Given the description of an element on the screen output the (x, y) to click on. 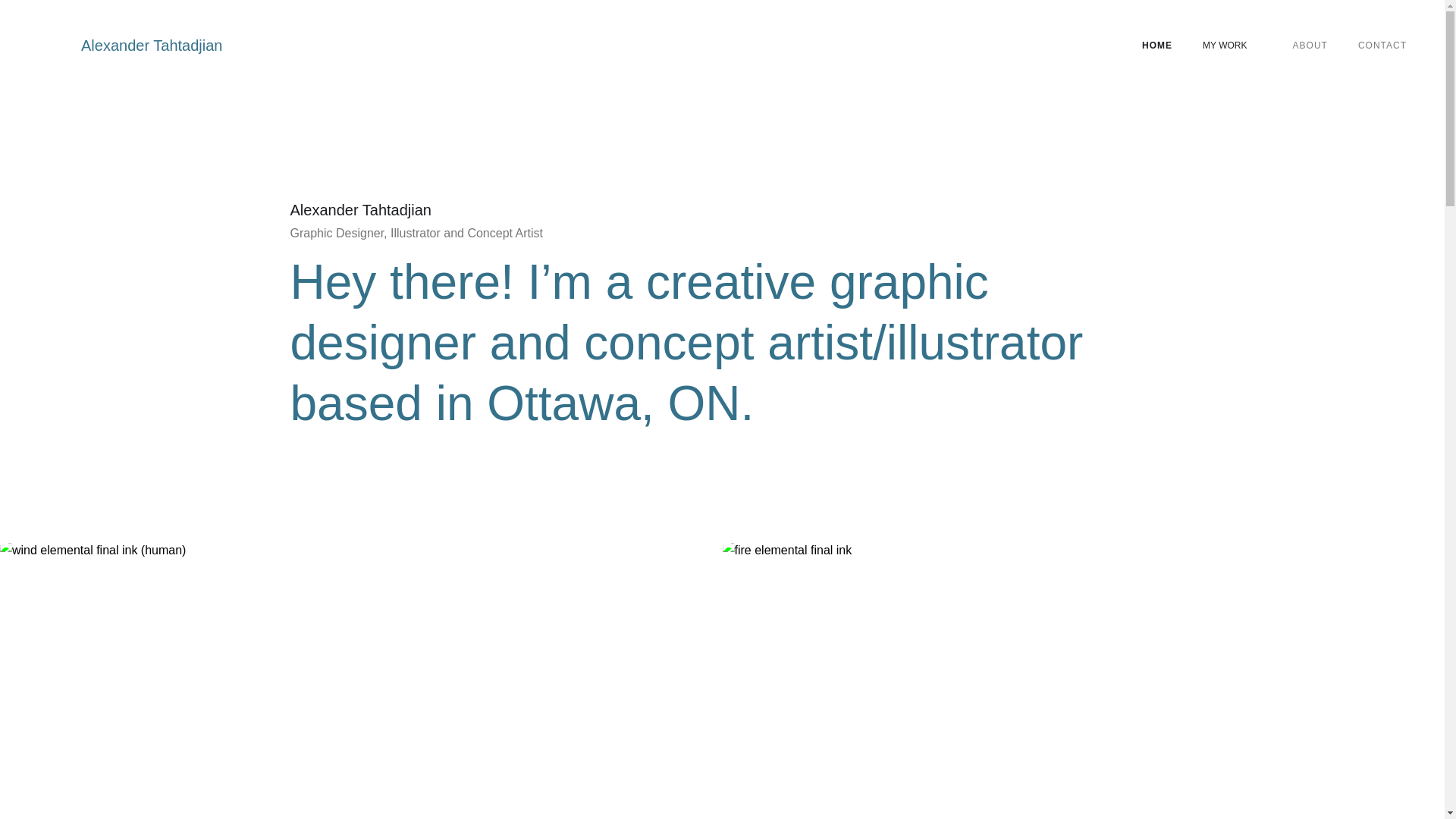
Alexander Tahtadjian Element type: text (129, 45)
CONTACT Element type: text (1382, 45)
ABOUT Element type: text (1310, 45)
HOME Element type: text (1156, 45)
